Given the description of an element on the screen output the (x, y) to click on. 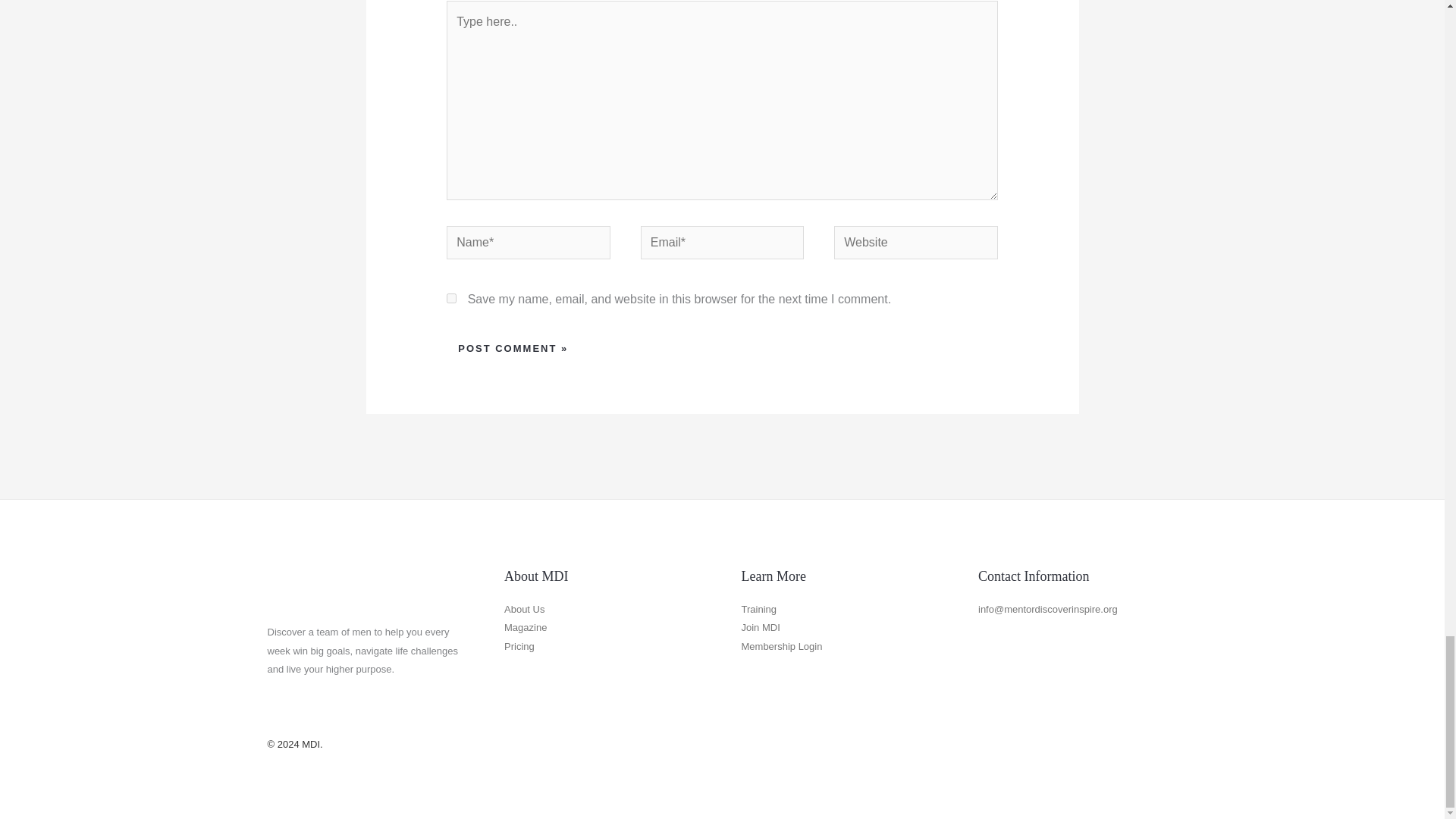
Pricing (518, 645)
Join MDI (760, 627)
Training (758, 609)
Membership Login (781, 645)
Magazine (525, 627)
About Us (523, 609)
yes (451, 298)
